Given the description of an element on the screen output the (x, y) to click on. 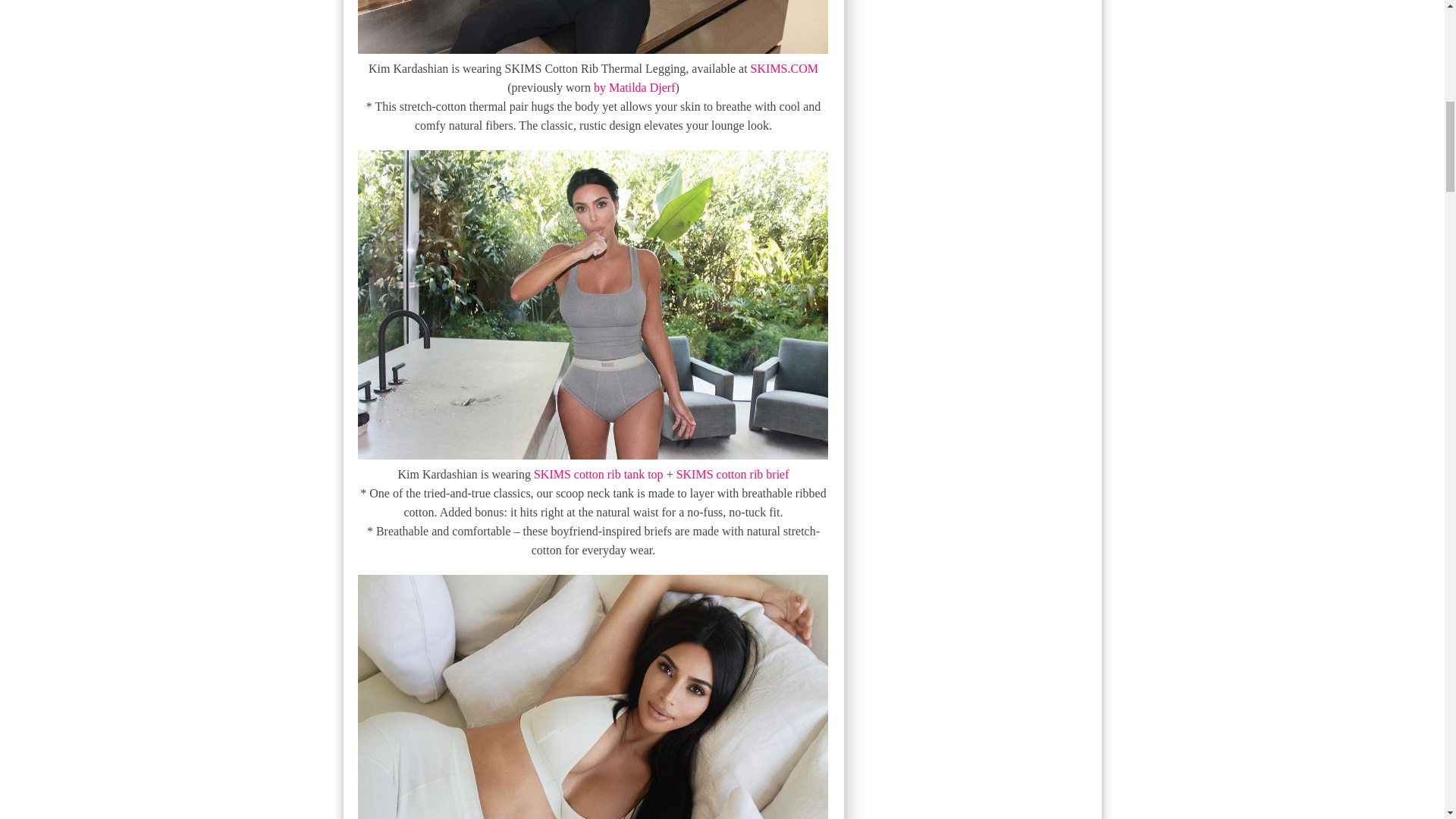
SKIMS cotton rib tank top (598, 473)
by Matilda Djerf (634, 87)
SKIMS cotton rib brief (733, 473)
SKIMS.COM (784, 68)
